Given the description of an element on the screen output the (x, y) to click on. 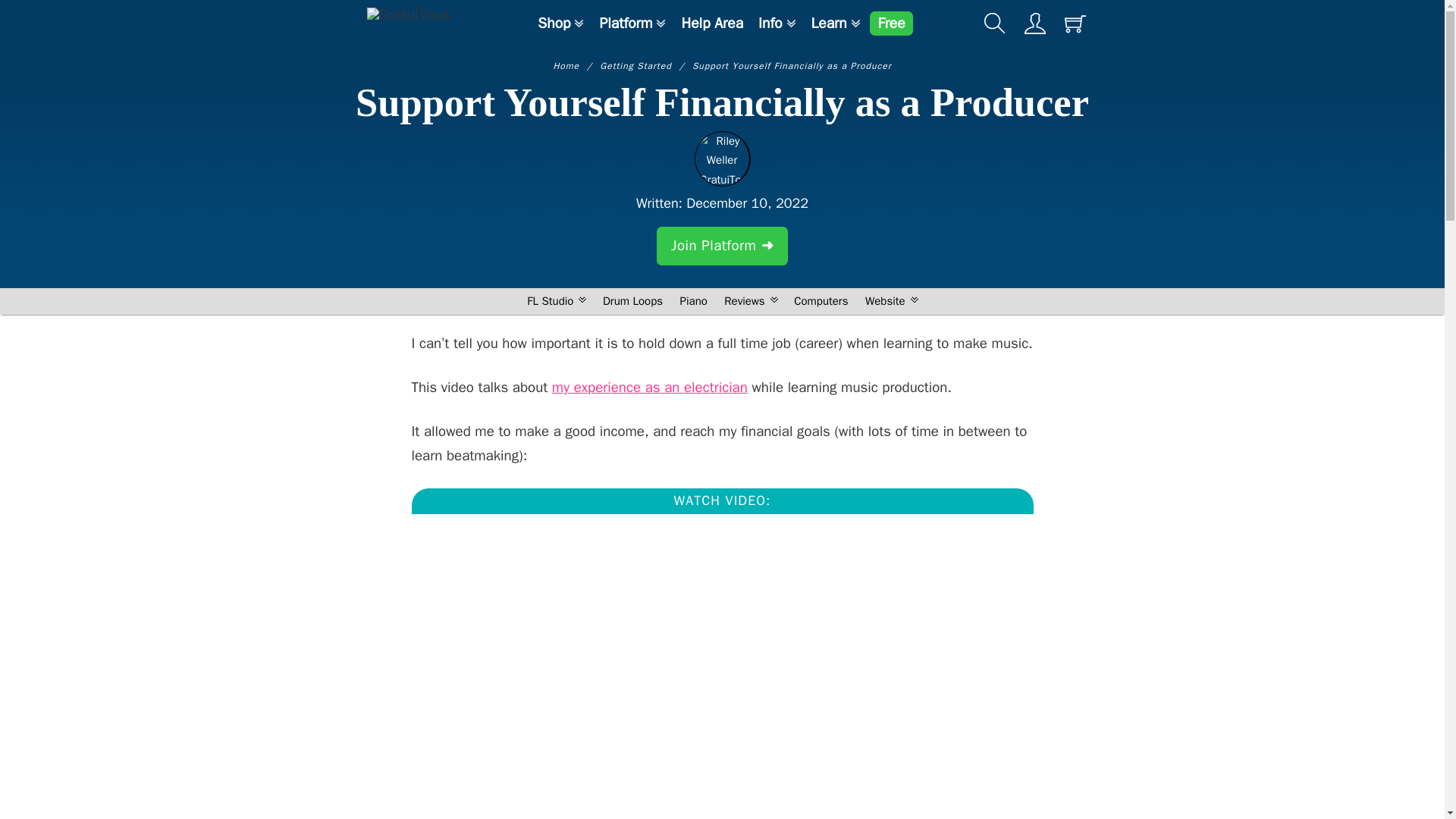
Platform (625, 23)
Shop (553, 23)
Free (890, 23)
Help Area (711, 23)
Learn (828, 23)
Info (770, 23)
